Given the description of an element on the screen output the (x, y) to click on. 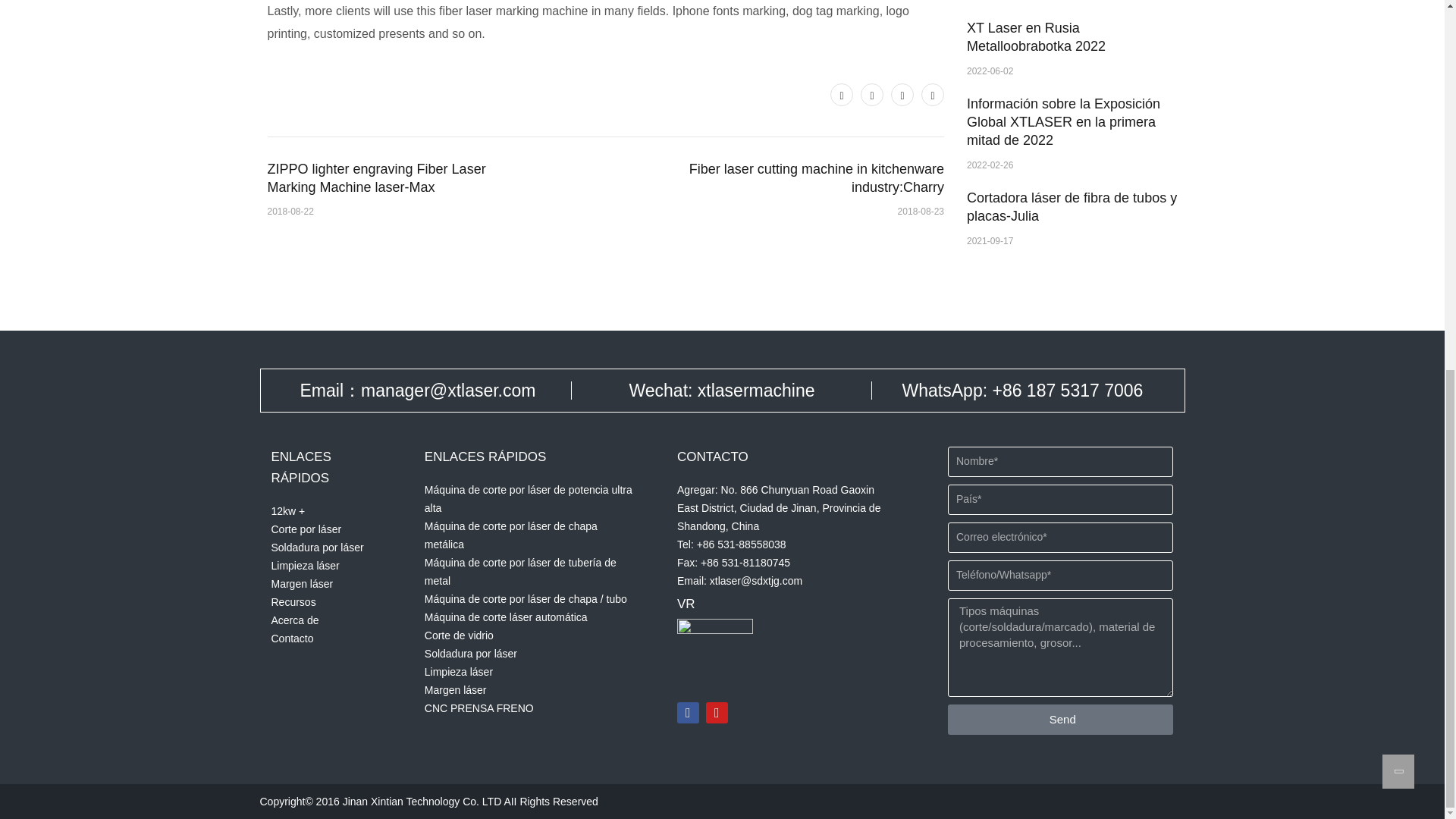
Pinterest (902, 94)
Facebook (871, 94)
Twitter (841, 94)
LinkedIn (932, 94)
